Given the description of an element on the screen output the (x, y) to click on. 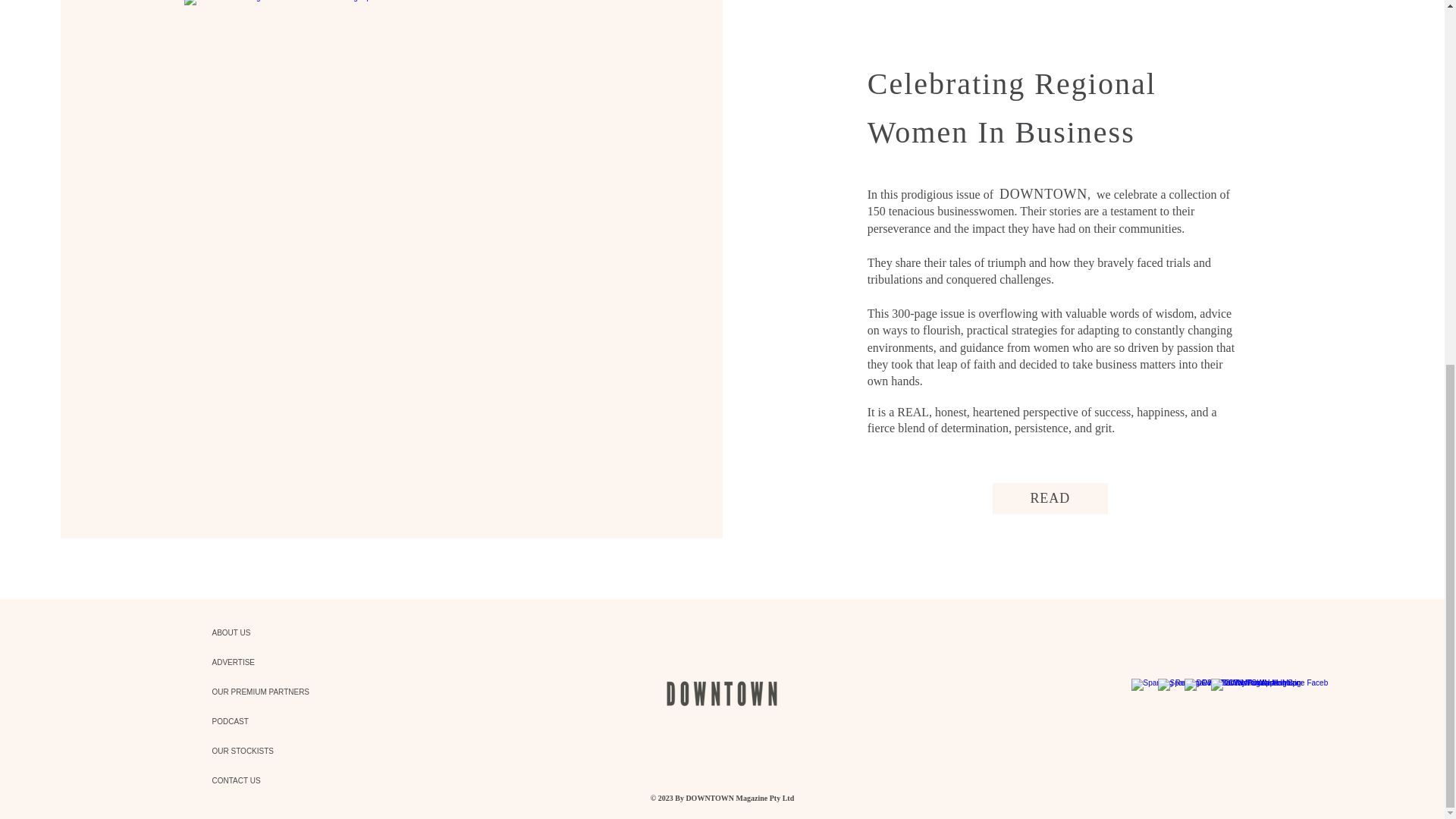
OUR STOCKISTS (265, 750)
READ (1050, 498)
ADVERTISE (265, 662)
ABOUT US (265, 632)
OUR PREMIUM PARTNERS (265, 691)
PODCAST (265, 721)
CONTACT US (265, 780)
